Given the description of an element on the screen output the (x, y) to click on. 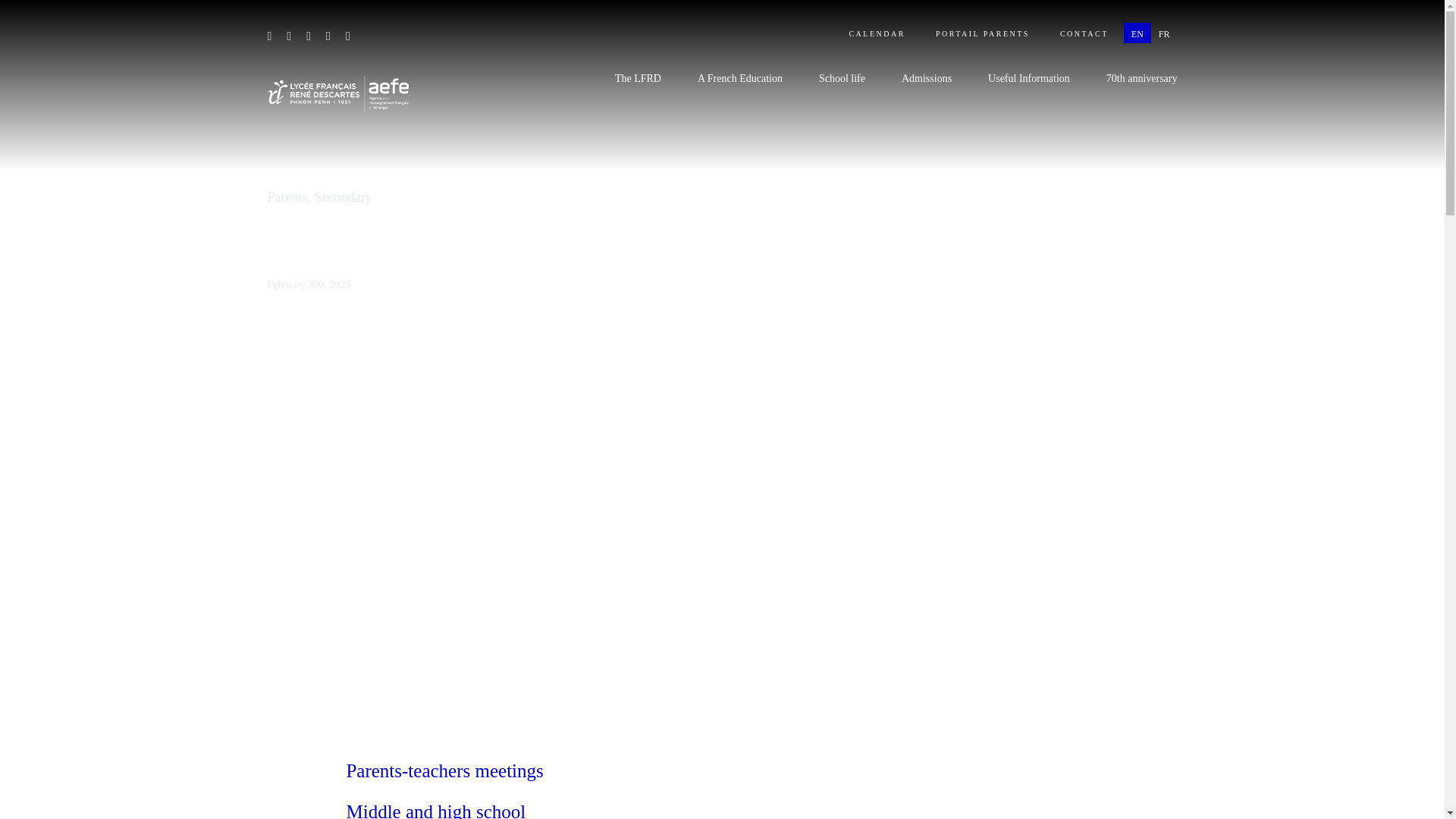
En (1137, 32)
CALENDAR (876, 32)
PORTAIL PARENTS (982, 32)
EN (1137, 32)
CONTACT (1084, 32)
Fr (1164, 32)
FR (1164, 32)
